Given the description of an element on the screen output the (x, y) to click on. 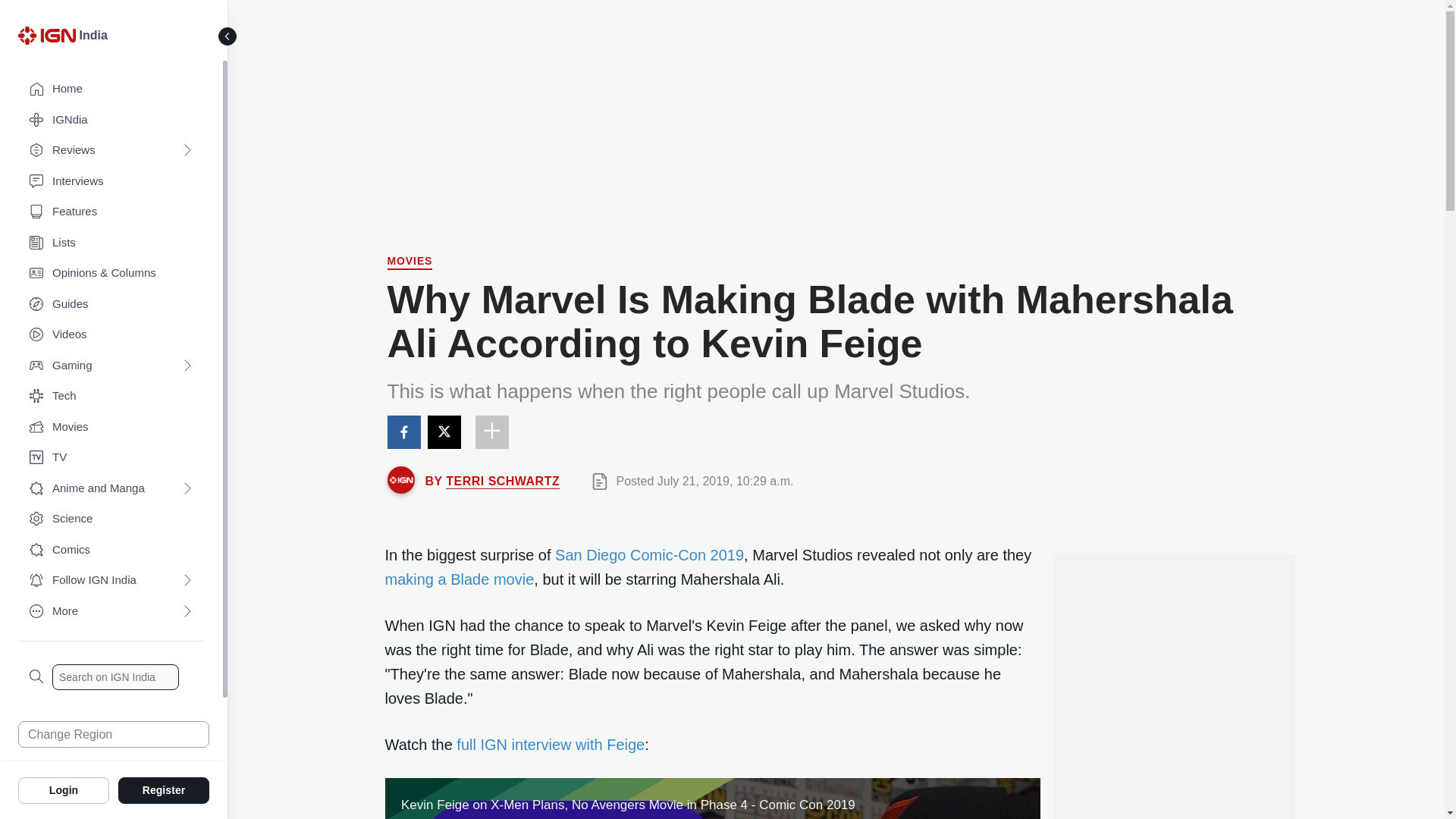
Comics (111, 550)
Science (111, 518)
More (111, 610)
Movies (409, 262)
Interviews (111, 181)
IGN Logo (46, 34)
Videos (111, 334)
Guides (111, 304)
Tech (111, 396)
Follow IGN India (111, 580)
Lists (111, 242)
Movies (111, 427)
Toggle Sidebar (226, 36)
Gaming (111, 365)
Features (111, 211)
